Given the description of an element on the screen output the (x, y) to click on. 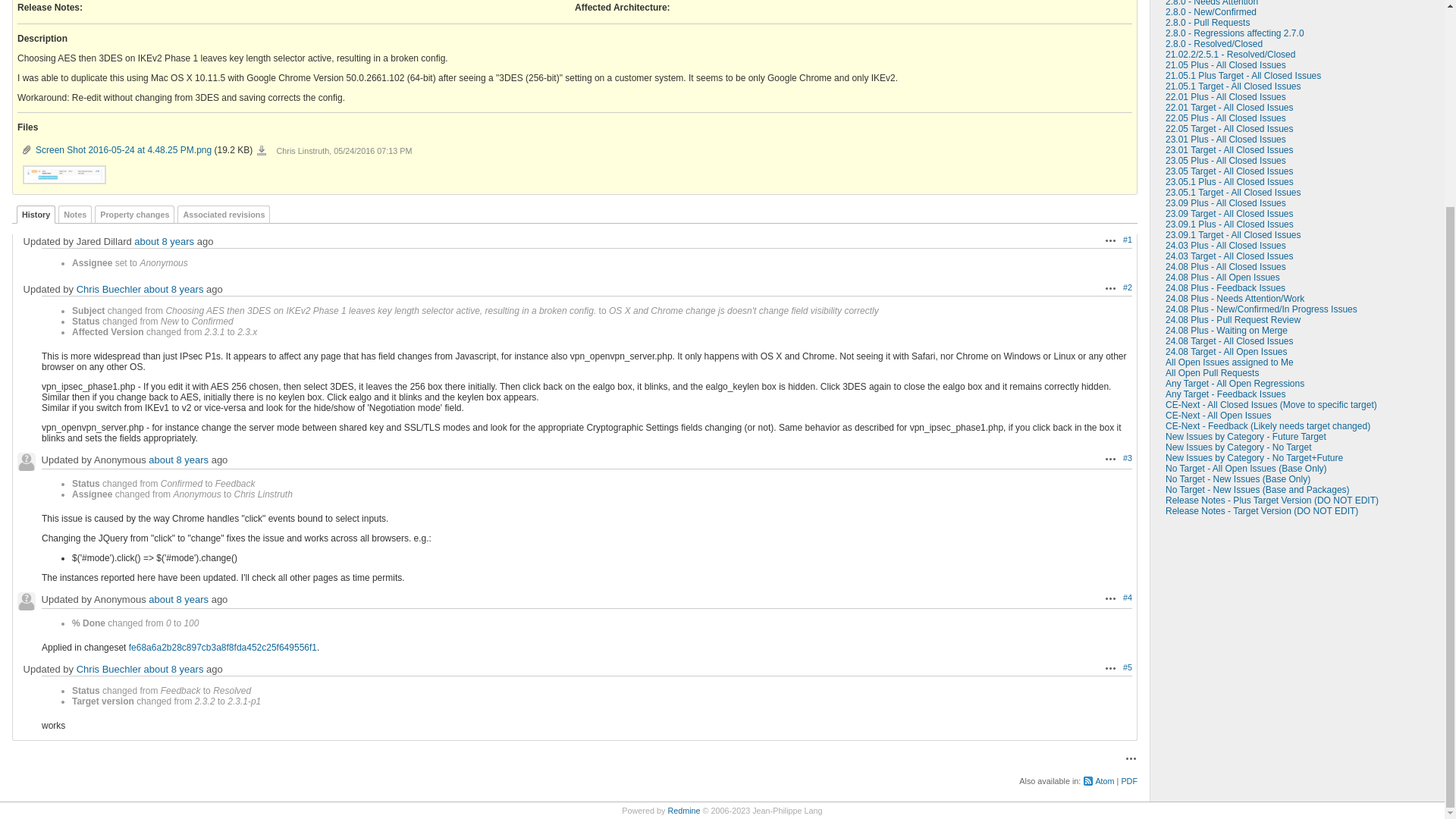
2.8.0 - Regressions affecting 2.7.0 (1235, 32)
2.8.0 - Pull Requests (1207, 22)
Actions (1110, 458)
Control behavior of this issue in release notes (48, 7)
Actions (1110, 240)
2.8.0 - Needs Attention (1211, 3)
Actions (1110, 287)
Anonymous (25, 461)
Screen Shot 2016-05-24 at 4.48.25 PM.png (64, 173)
Download (261, 150)
21.05 Plus - All Closed Issues (1225, 64)
